Given the description of an element on the screen output the (x, y) to click on. 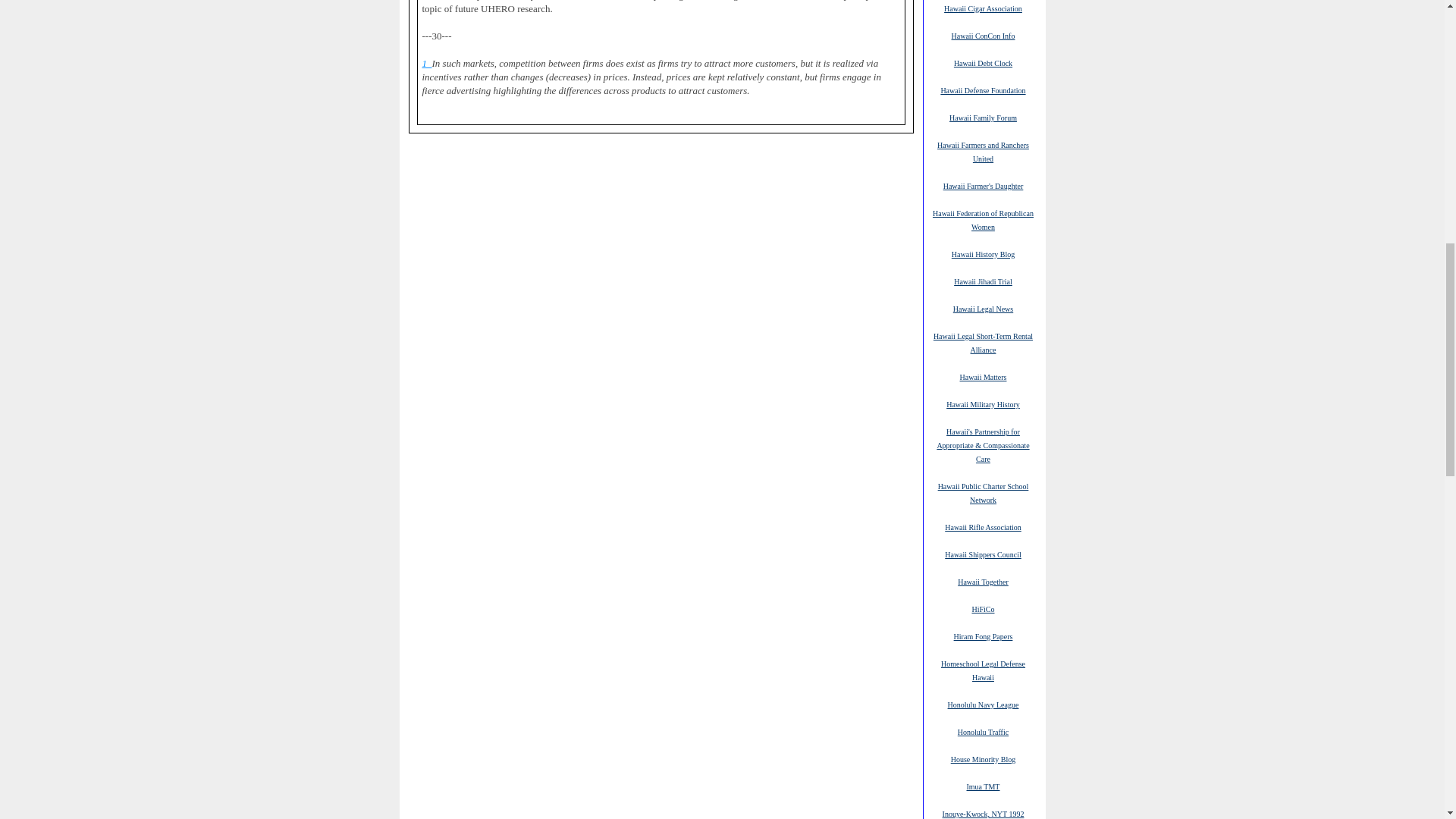
1  (426, 63)
Hawaii ConCon Info (983, 35)
Hawaii Cigar Association (982, 8)
